Given the description of an element on the screen output the (x, y) to click on. 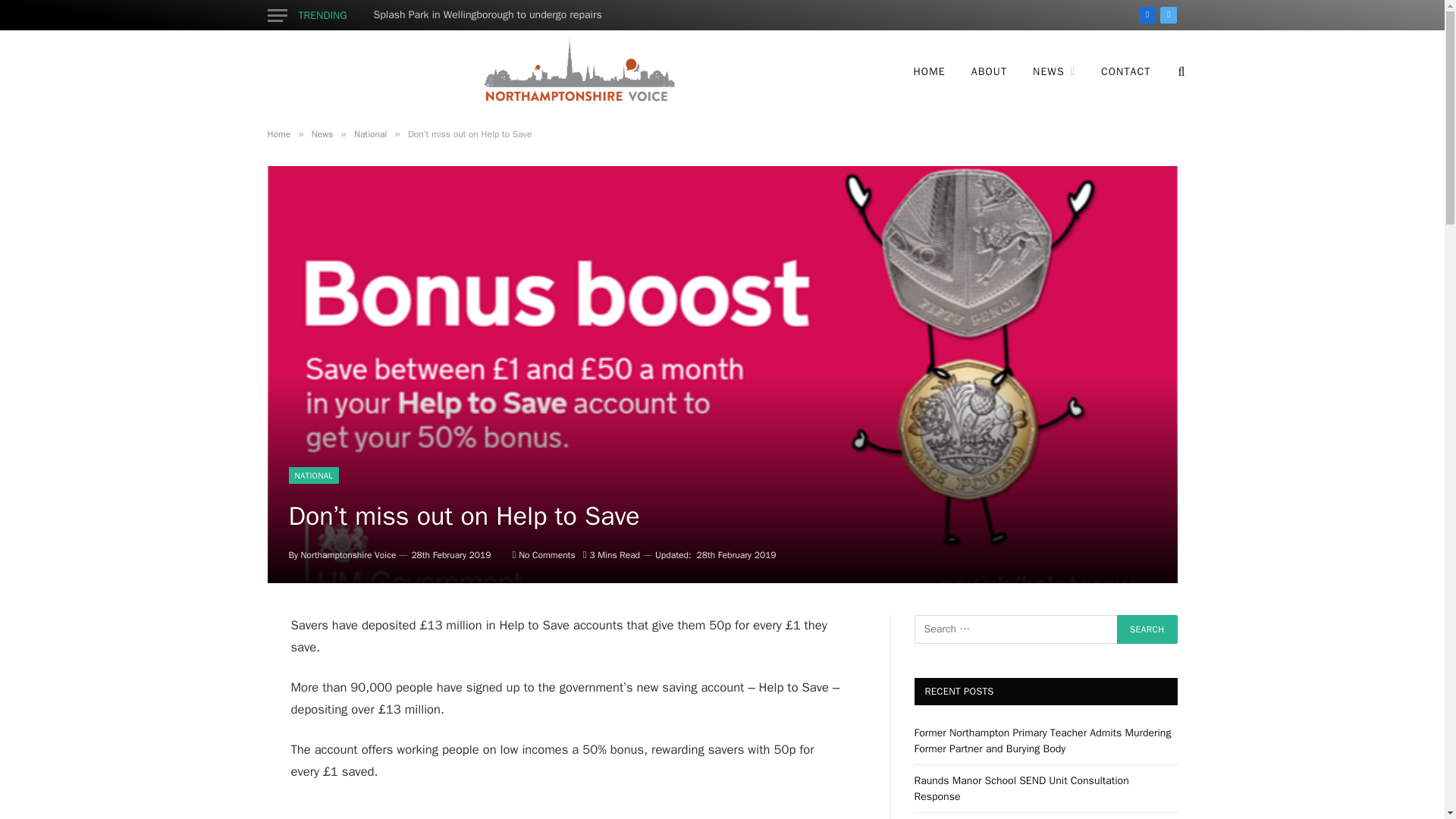
Northamptonshire Voice (577, 71)
Search (1146, 629)
NEWS (1053, 71)
Facebook (1147, 14)
ABOUT (989, 71)
Twitter (1168, 14)
HOME (929, 71)
Splash Park in Wellingborough to undergo repairs (492, 15)
Search (1146, 629)
